Given the description of an element on the screen output the (x, y) to click on. 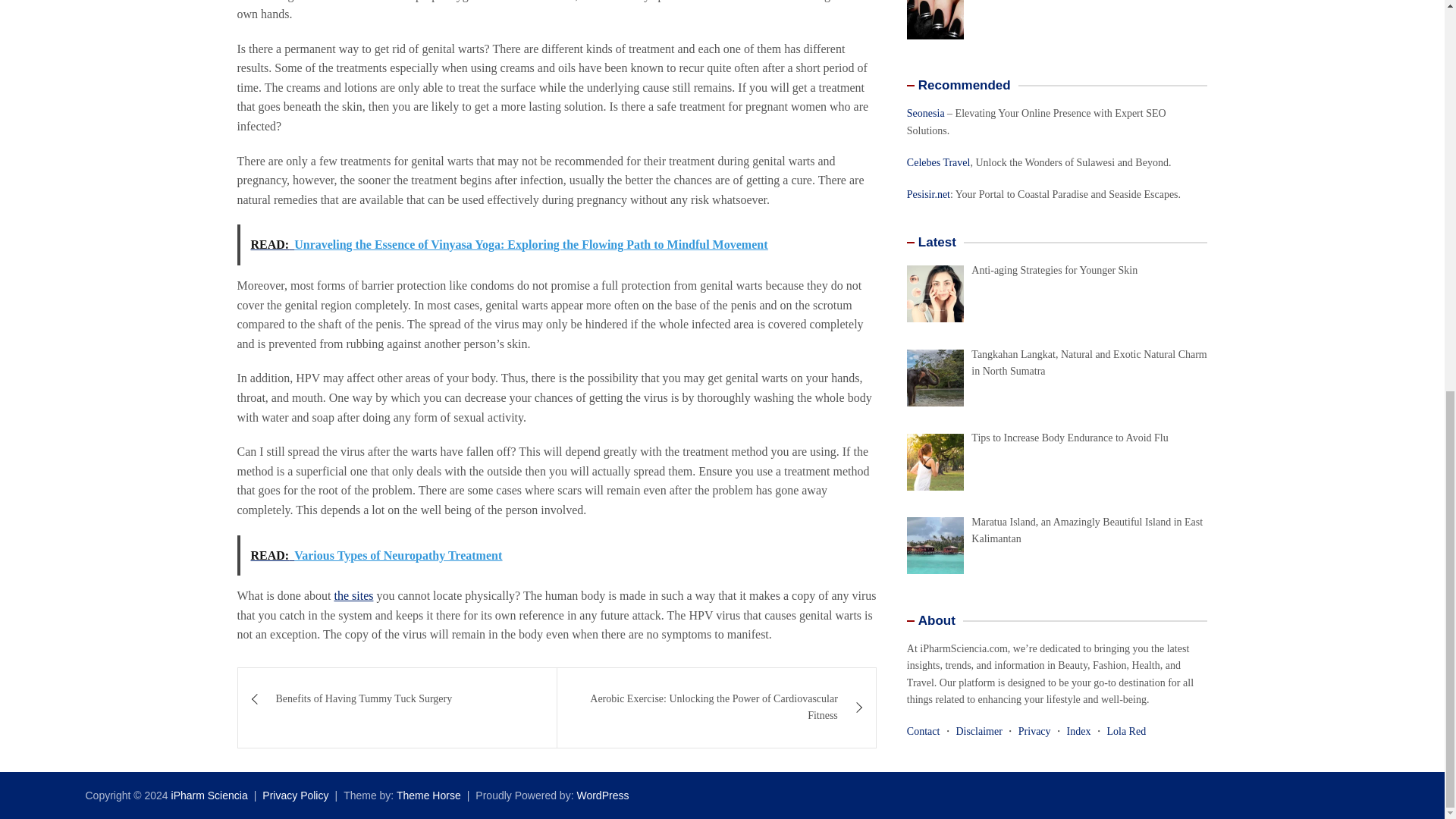
iPharm Sciencia (209, 795)
READ:  Various Types of Neuropathy Treatment (555, 555)
Theme Horse (428, 795)
Benefits of Having Tummy Tuck Surgery (397, 699)
the sites (352, 594)
WordPress (602, 795)
